Given the description of an element on the screen output the (x, y) to click on. 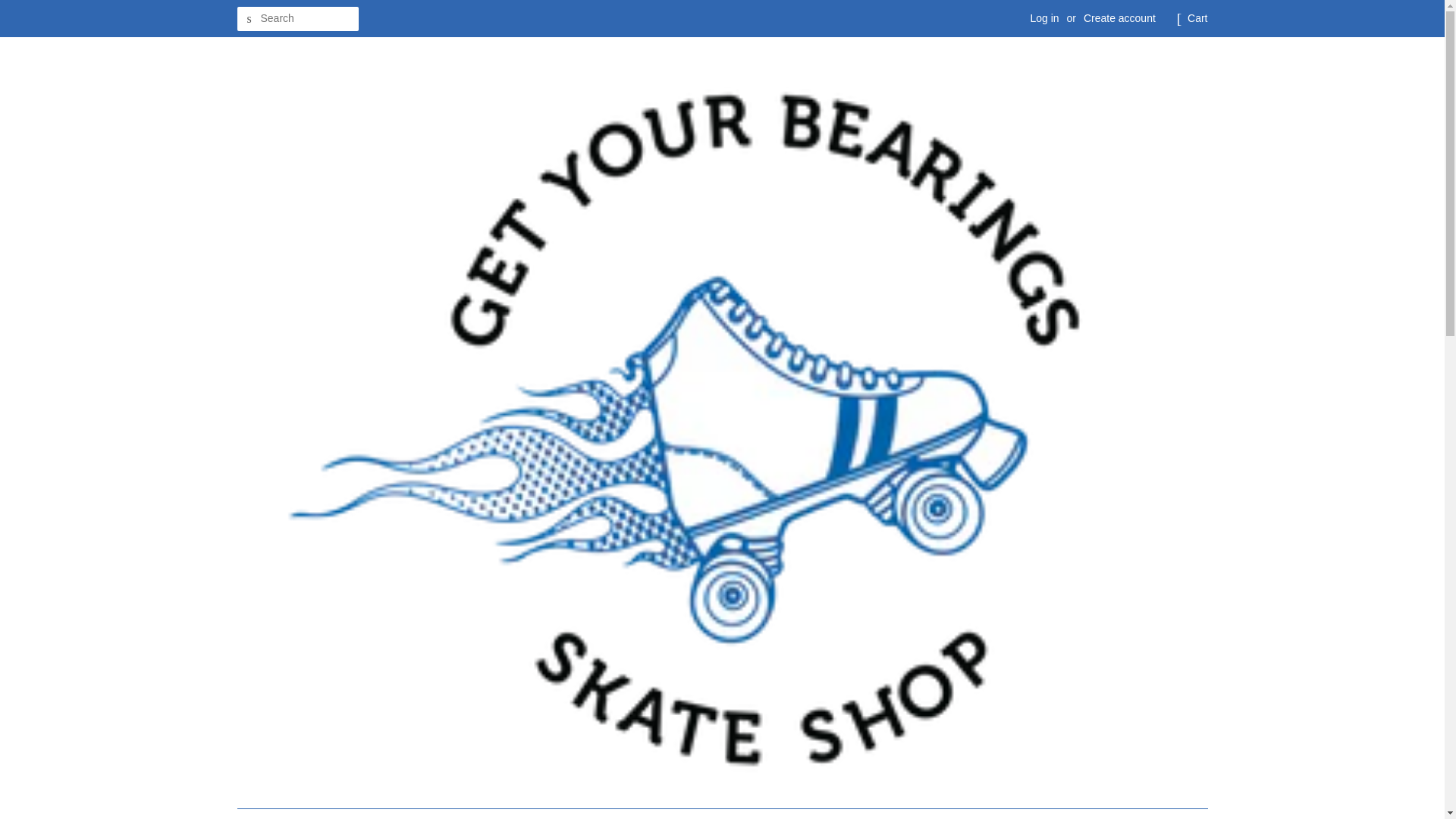
Log in (1043, 18)
Cart (1197, 18)
Search (247, 18)
Create account (1119, 18)
